Given the description of an element on the screen output the (x, y) to click on. 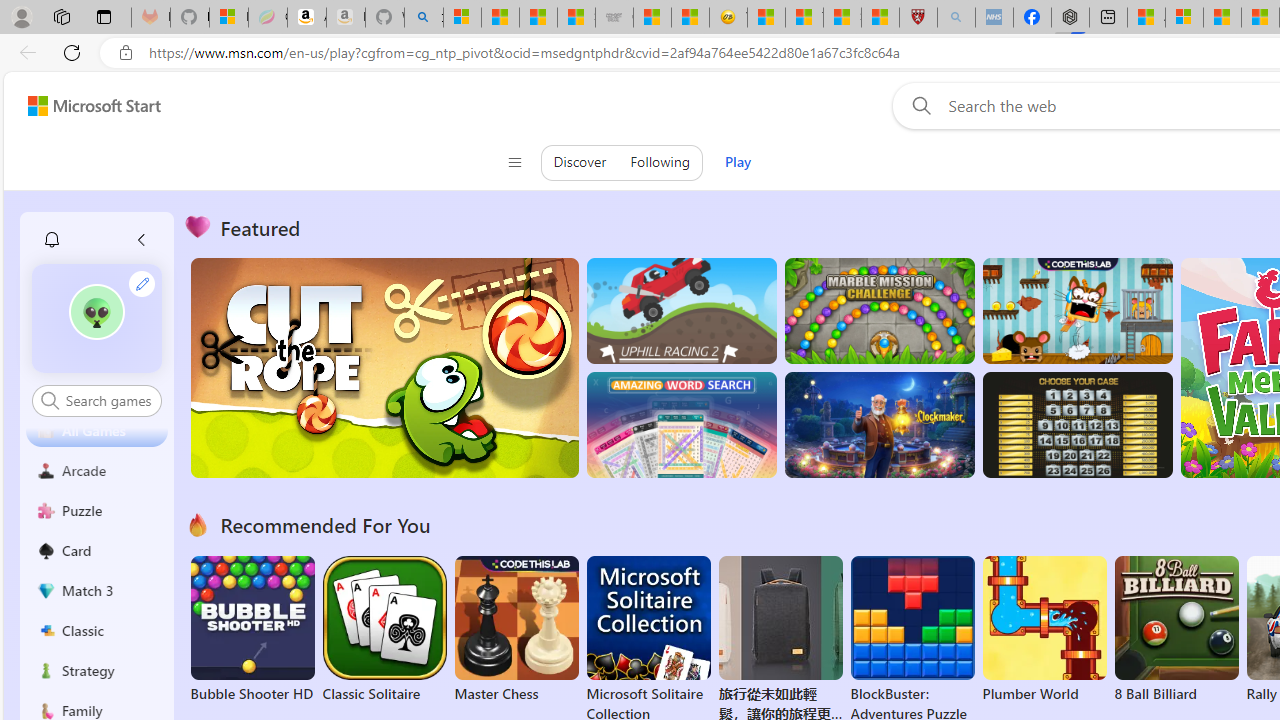
Squicky (1076, 310)
Combat Siege (614, 17)
Marble Mission : Challenge (879, 310)
AutomationID: control (108, 400)
Bubble Shooter HD (251, 629)
Web search (917, 105)
Stocks - MSN (576, 17)
